Given the description of an element on the screen output the (x, y) to click on. 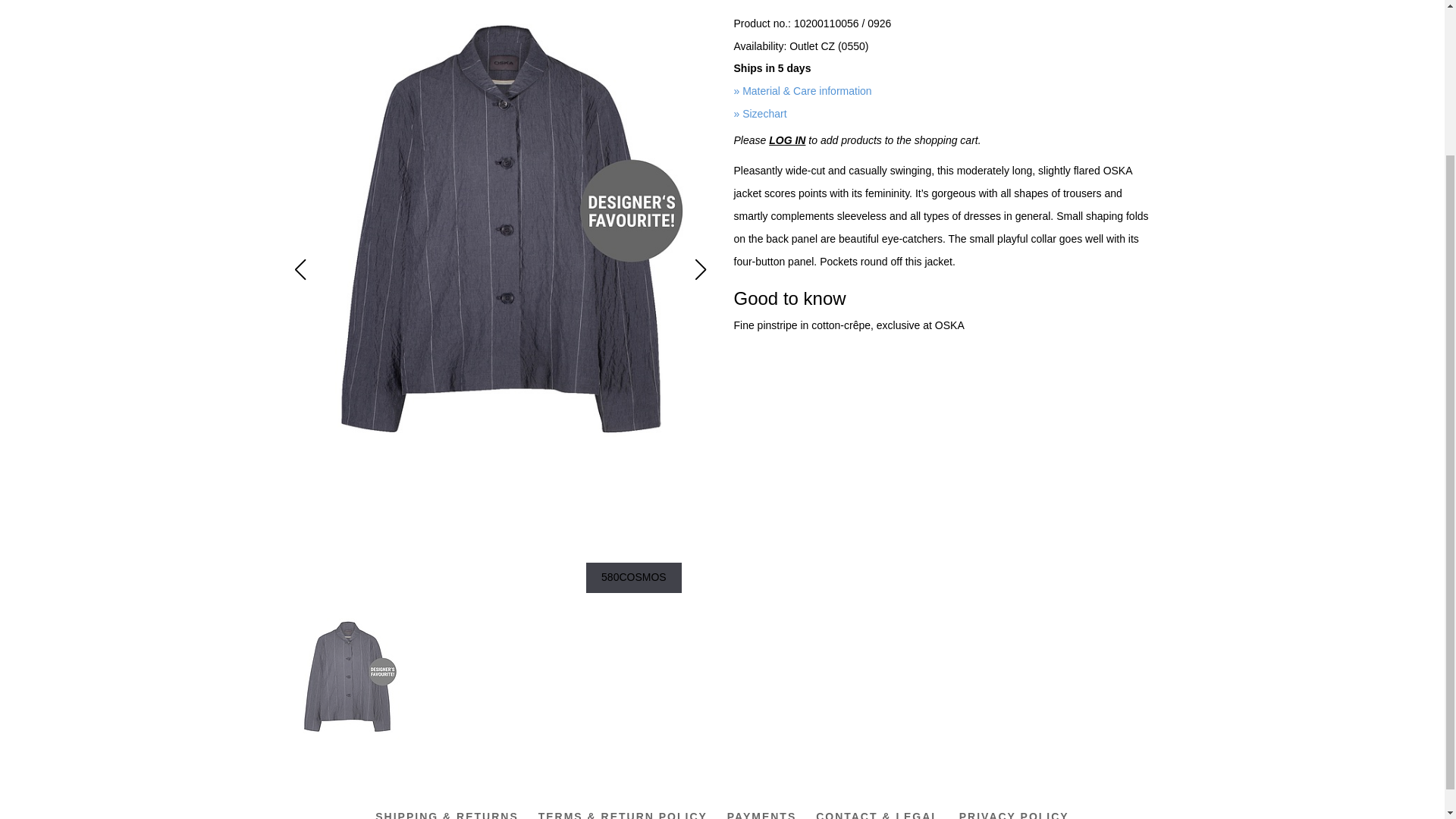
LOG IN (786, 140)
